Given the description of an element on the screen output the (x, y) to click on. 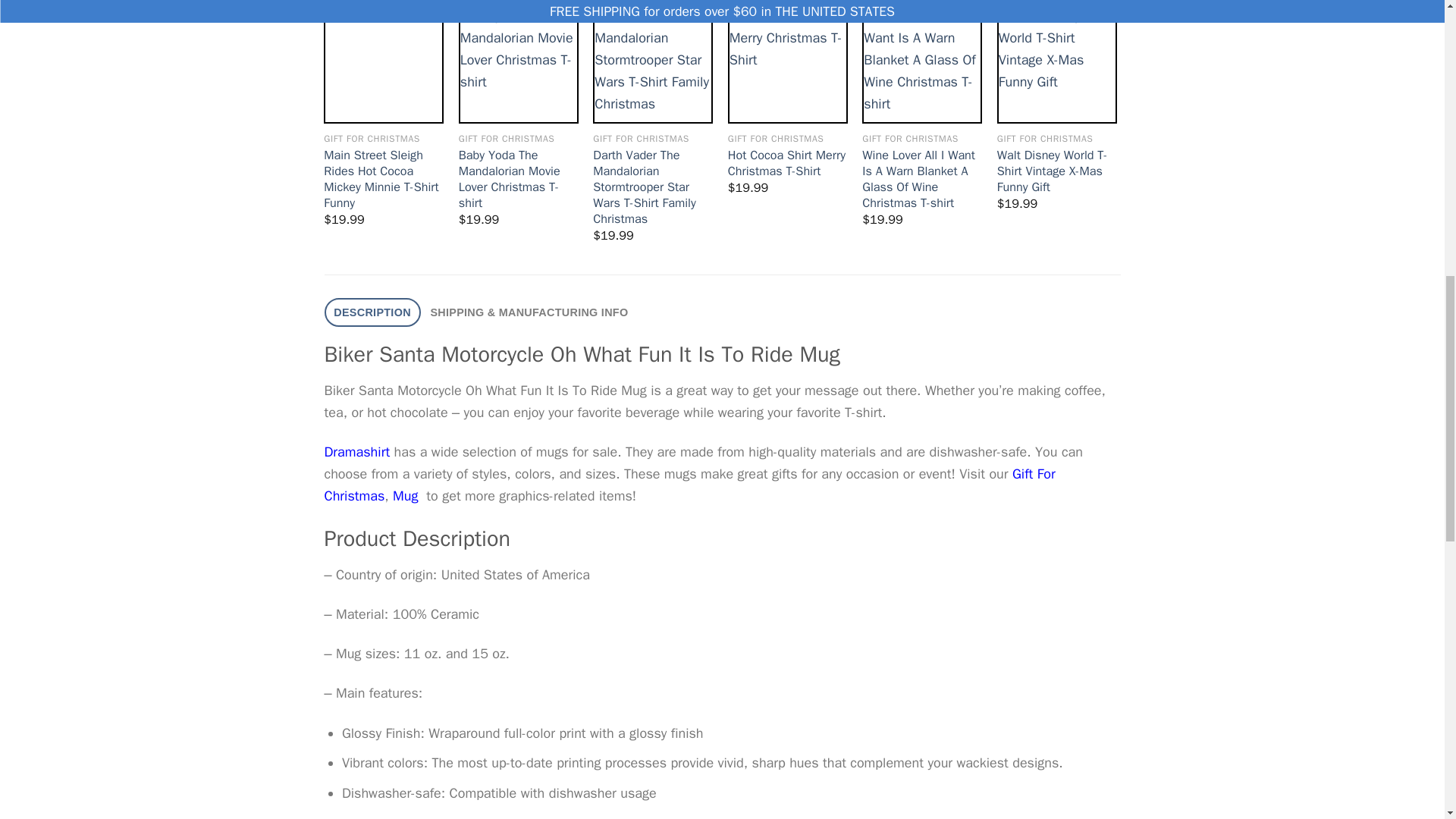
Hot Cocoa Shirt Merry Christmas T-Shirt (787, 163)
Baby Yoda The Mandalorian Movie Lover Christmas T-shirt (518, 178)
